Given the description of an element on the screen output the (x, y) to click on. 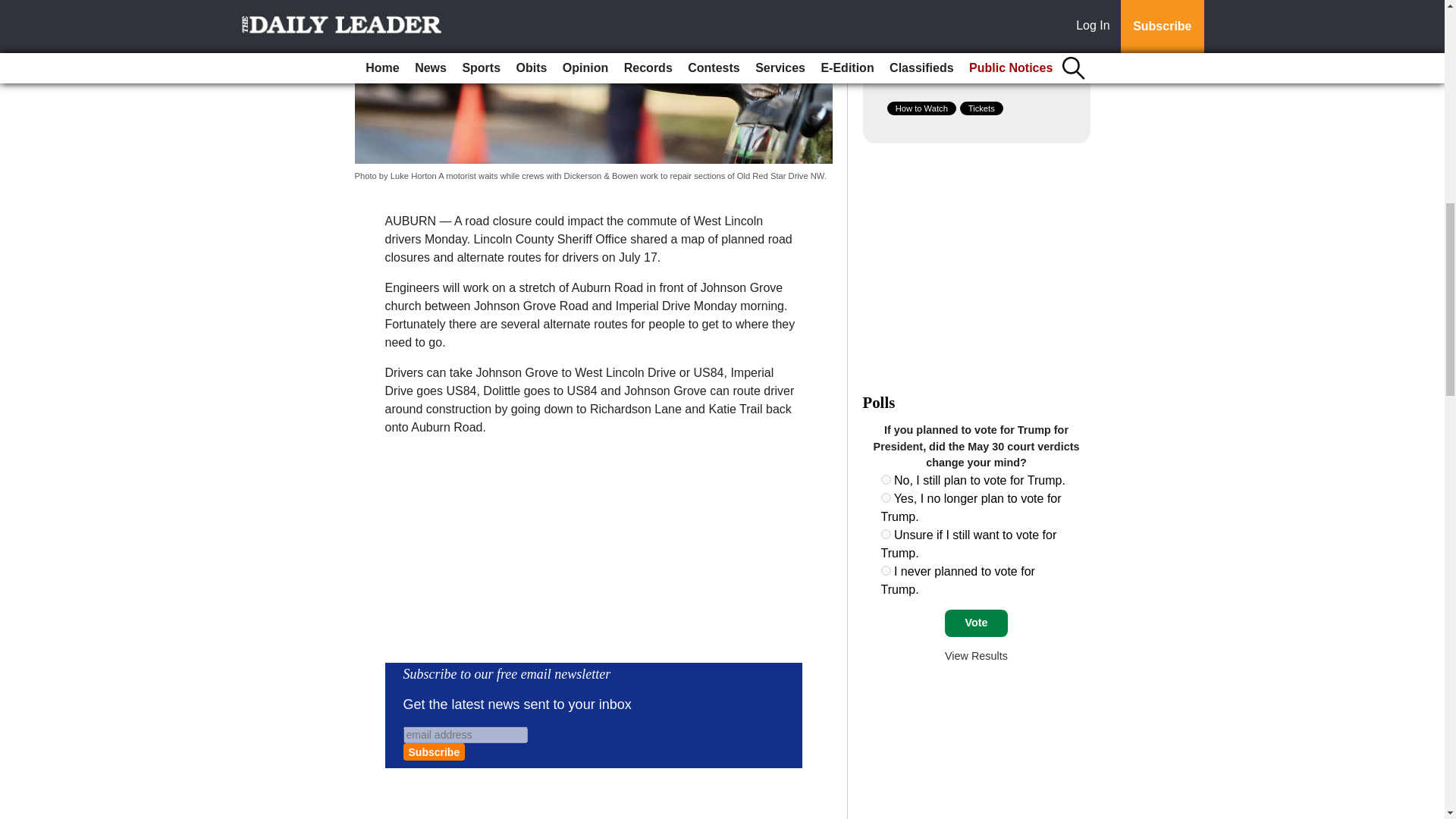
846 (885, 479)
How to Watch (921, 108)
Subscribe (434, 751)
Subscribe (434, 751)
848 (885, 533)
   Vote    (975, 623)
847 (885, 497)
849 (885, 570)
View Results Of This Poll (975, 654)
Tickets (981, 108)
